Given the description of an element on the screen output the (x, y) to click on. 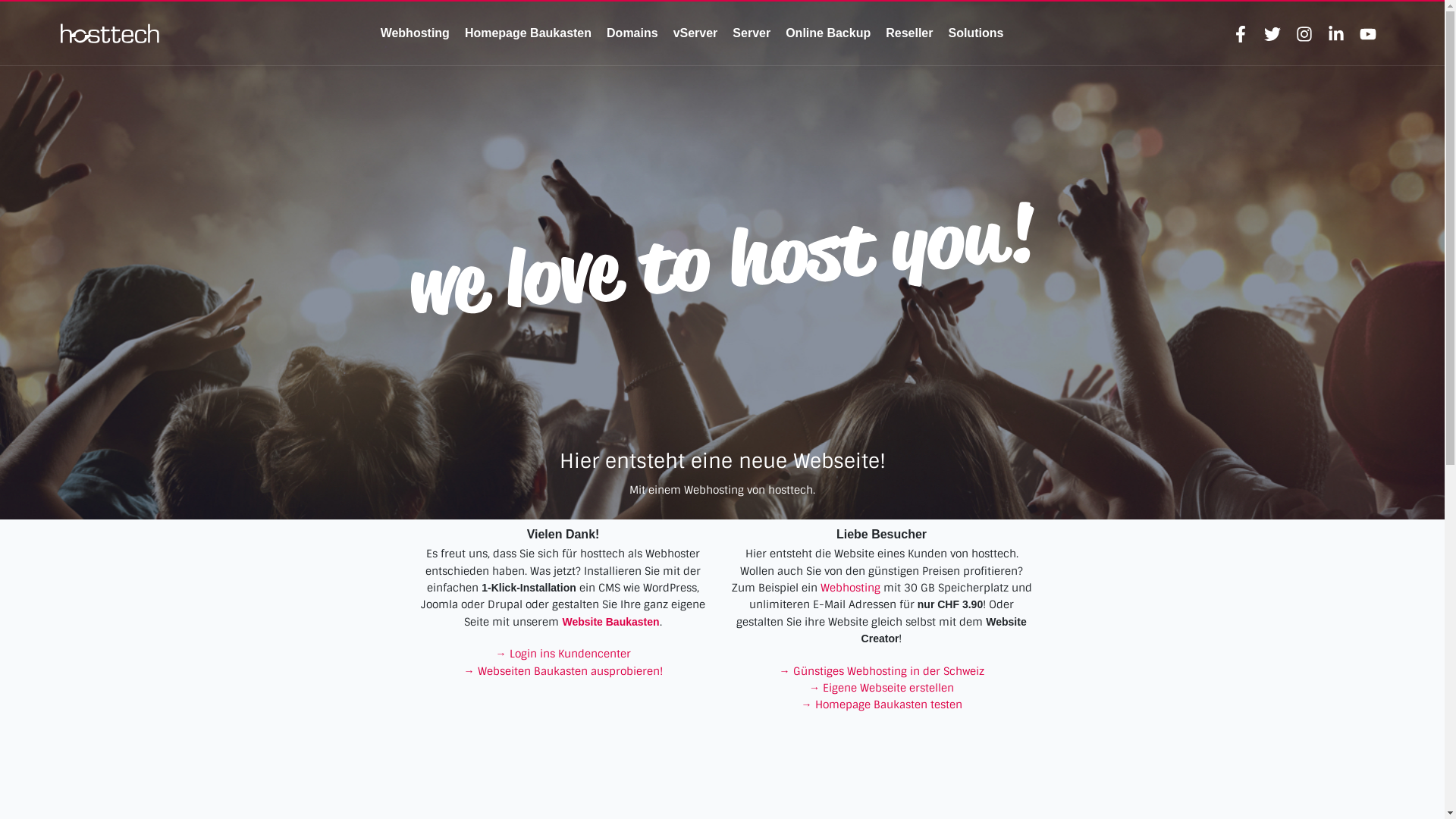
Webhosting Element type: text (850, 587)
Domains Element type: text (632, 32)
Homepage Baukasten Element type: text (527, 32)
vServer Element type: text (695, 32)
Webhosting Element type: text (414, 32)
Server Element type: text (751, 32)
Solutions Element type: text (975, 32)
Website Baukasten Element type: text (609, 621)
Online Backup Element type: text (827, 32)
Reseller Element type: text (908, 32)
